Given the description of an element on the screen output the (x, y) to click on. 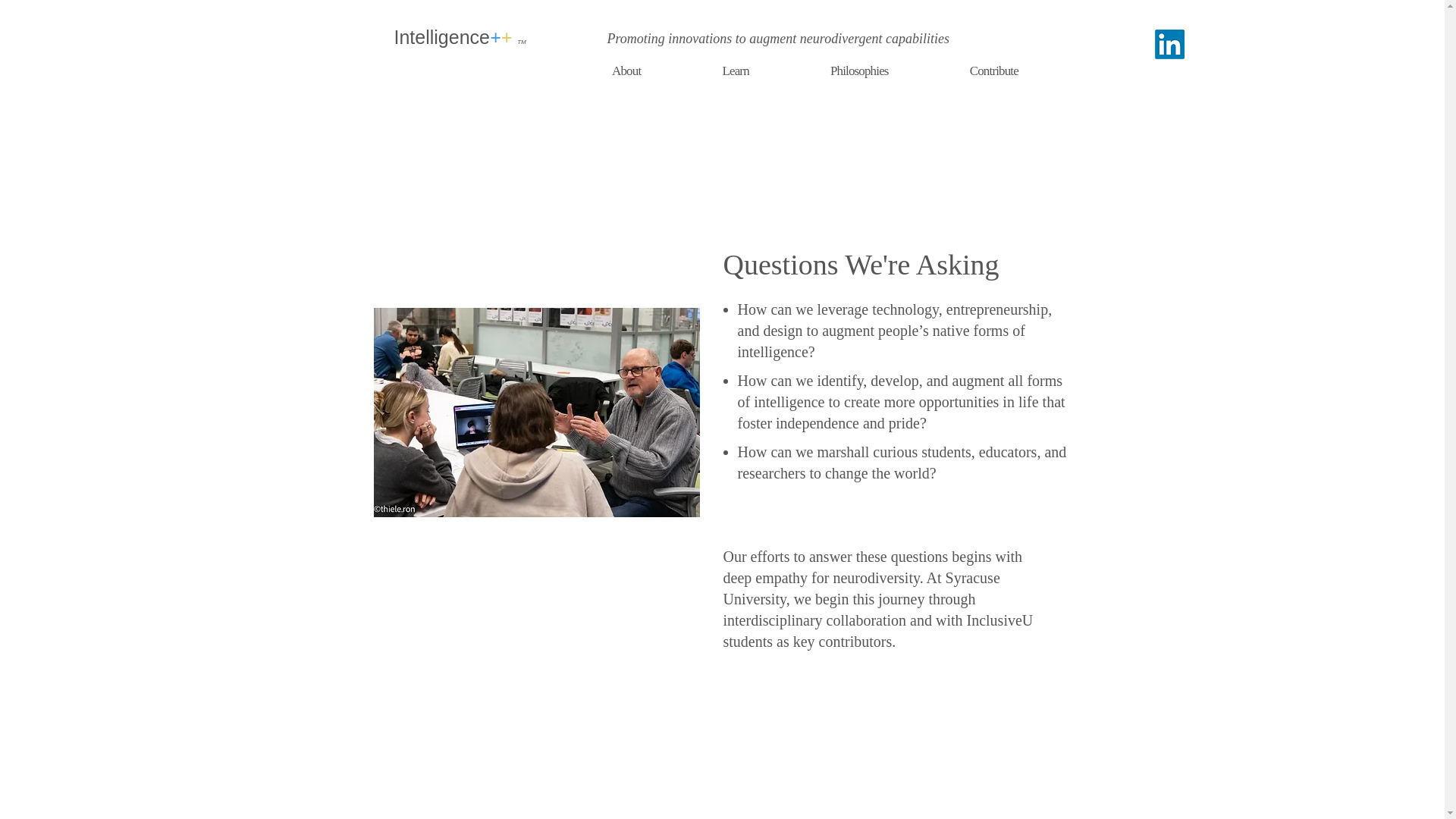
TM (520, 41)
